Given the description of an element on the screen output the (x, y) to click on. 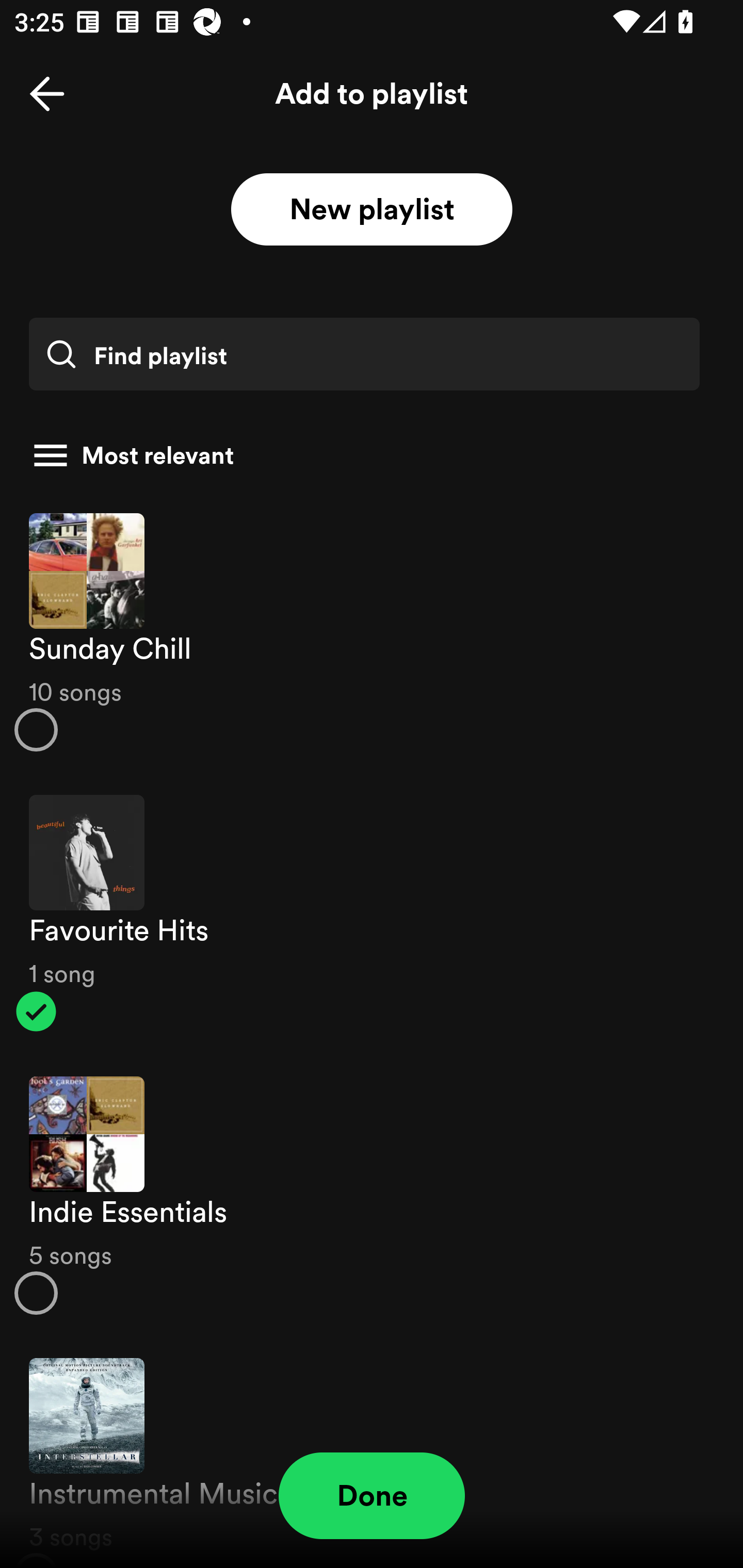
Back (46, 93)
New playlist (371, 210)
Find playlist (363, 354)
Most relevant (363, 455)
Sunday Chill 10 songs (371, 631)
Favourite Hits 1 song (371, 914)
Indie Essentials 5 songs (371, 1195)
Instrumental Music 3 songs (371, 1451)
Done (371, 1495)
